Given the description of an element on the screen output the (x, y) to click on. 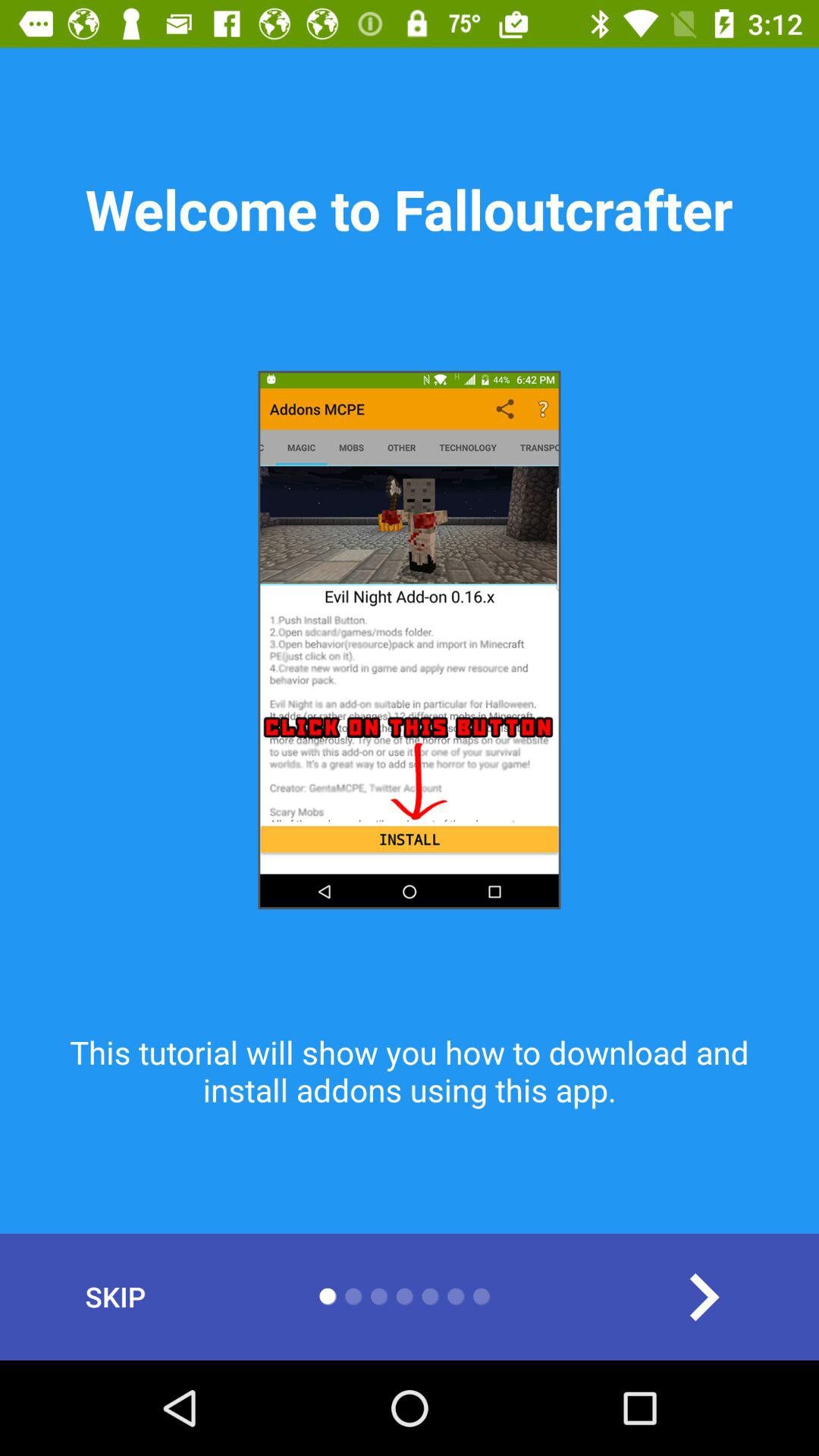
go to next screen (703, 1296)
